Given the description of an element on the screen output the (x, y) to click on. 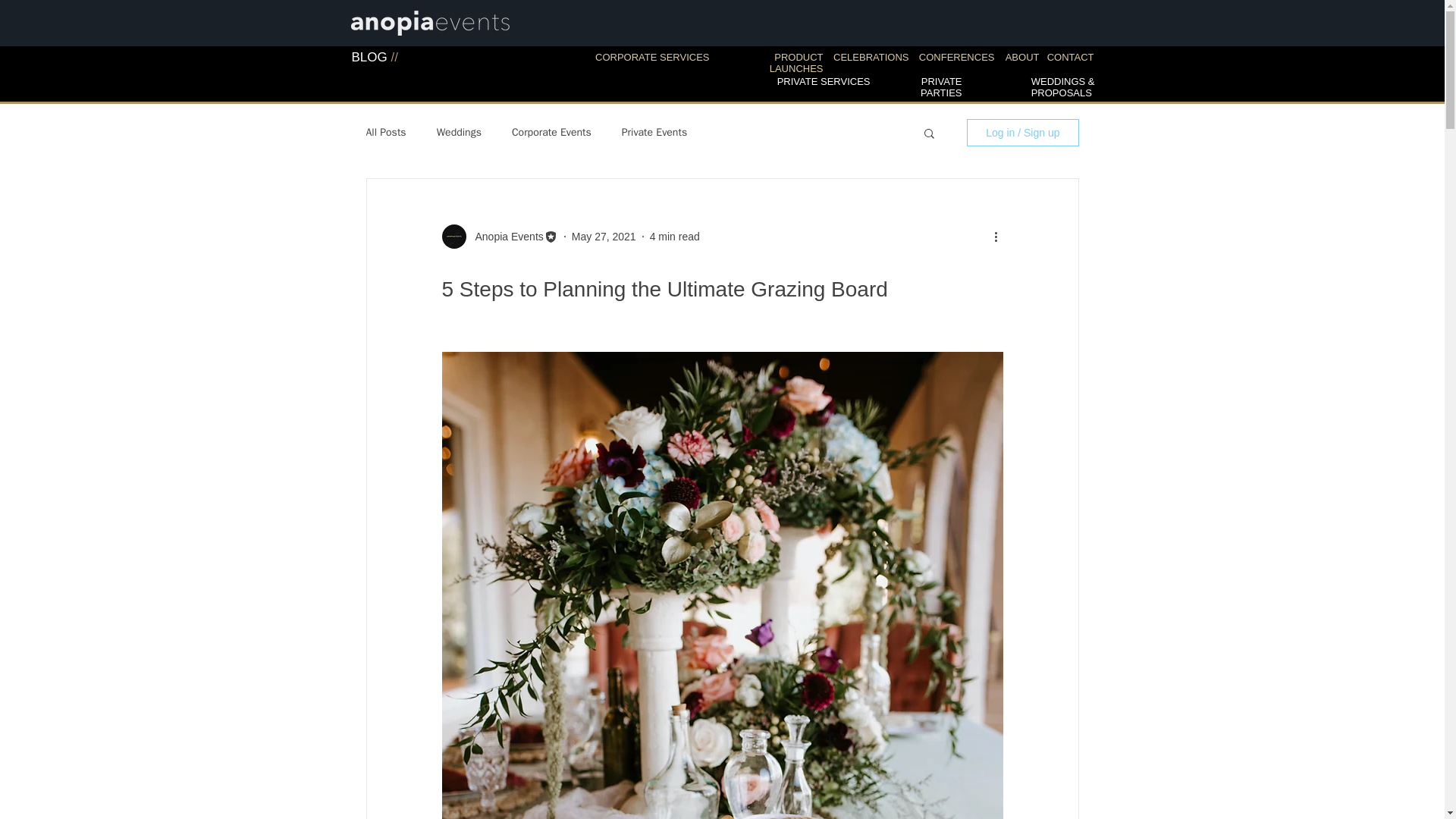
CELEBRATIONS (870, 57)
CORPORATE SERVICES (652, 57)
PRODUCT LAUNCHES (797, 62)
Corporate Events (551, 132)
CONFERENCES (956, 57)
CONTACT (1070, 57)
All Posts (385, 132)
May 27, 2021 (604, 236)
Anopia Events (504, 236)
4 min read (674, 236)
Private Events (654, 132)
PRIVATE PARTIES (940, 87)
Anopia Events Logo high res-02.png (429, 21)
Weddings (458, 132)
PRIVATE SERVICES (823, 81)
